Given the description of an element on the screen output the (x, y) to click on. 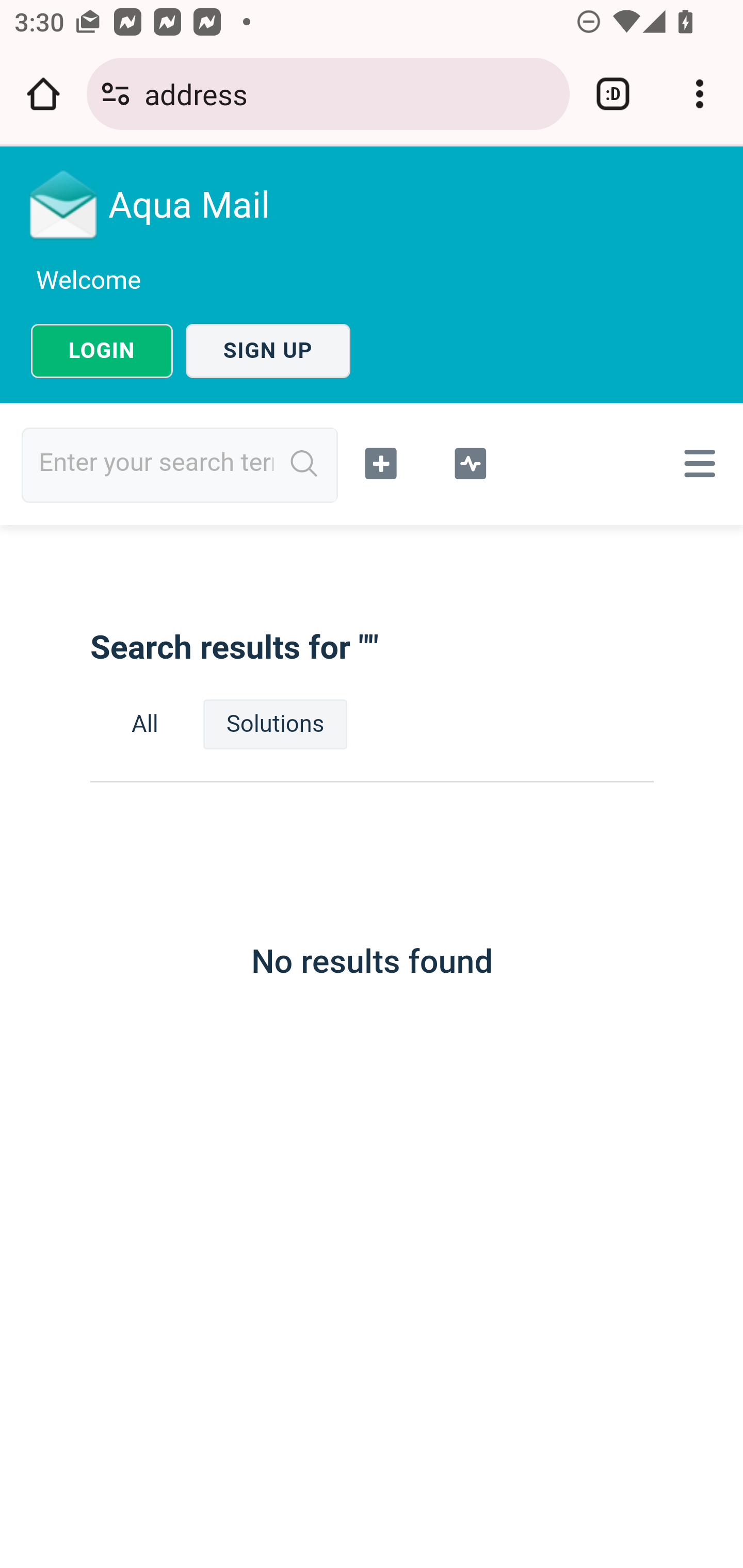
Open the home page (43, 93)
Connection is secure (115, 93)
Switch or close tabs (612, 93)
Customize and control Google Chrome (699, 93)
address (349, 92)
Logo (63, 204)
LOGIN (101, 351)
SIGN UP (268, 351)
 (695, 463)
Search (304, 464)
 (381, 460)
 (470, 460)
All (145, 724)
Solutions (275, 724)
